Given the description of an element on the screen output the (x, y) to click on. 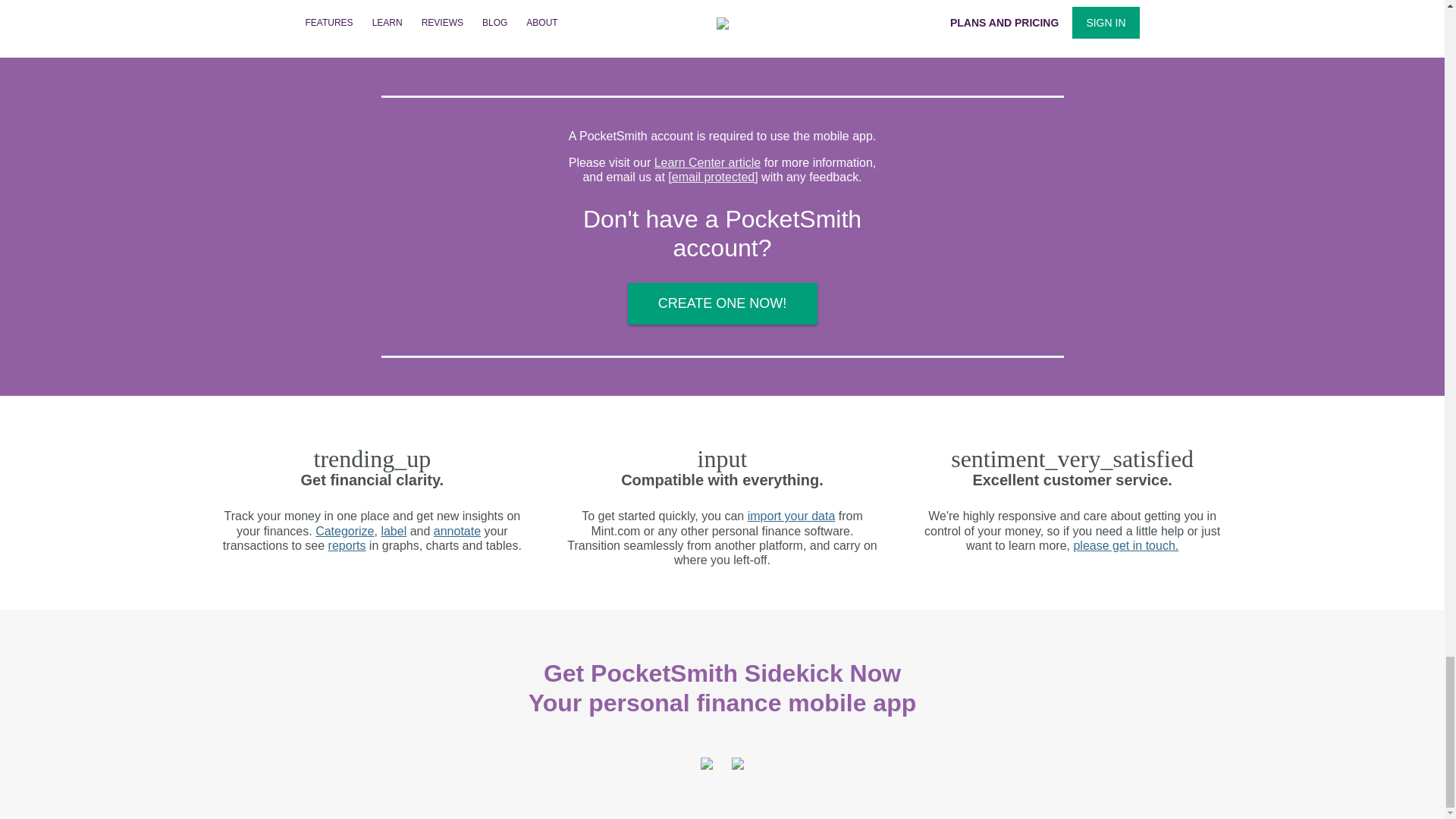
import your data (791, 515)
label (393, 530)
CREATE ONE NOW! (721, 303)
Learn Center article (707, 162)
annotate (456, 530)
please get in touch. (1125, 545)
reports (347, 545)
Categorize (344, 530)
